Given the description of an element on the screen output the (x, y) to click on. 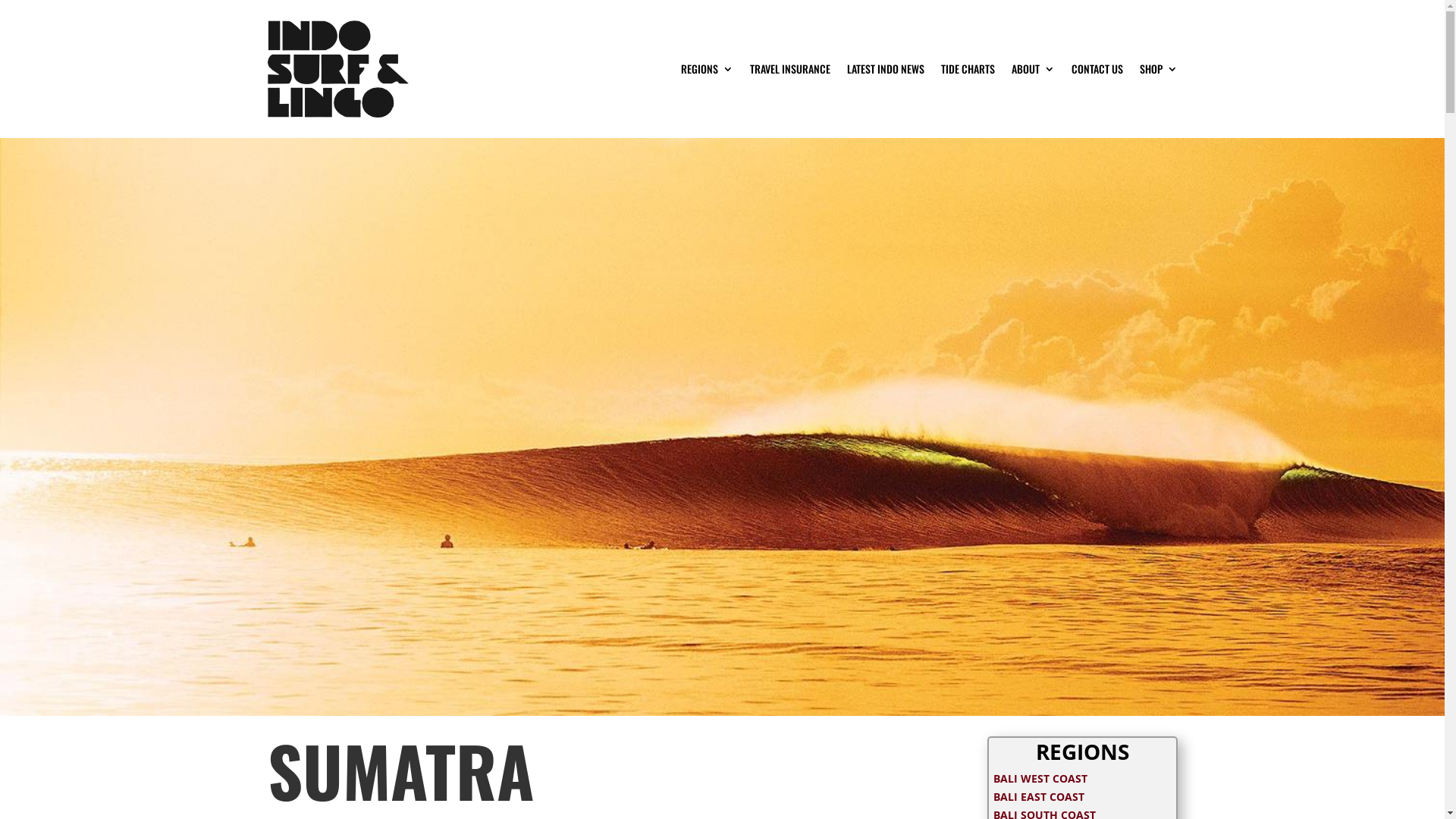
TRAVEL INSURANCE Element type: text (789, 68)
SHOP Element type: text (1157, 68)
ABOUT Element type: text (1032, 68)
REGIONS Element type: text (706, 68)
home-posters-img Element type: hover (722, 426)
LATEST INDO NEWS Element type: text (884, 68)
BALI EAST COAST Element type: text (1038, 796)
TIDE CHARTS Element type: text (967, 68)
CONTACT US Element type: text (1096, 68)
BALI WEST COAST Element type: text (1040, 778)
